Given the description of an element on the screen output the (x, y) to click on. 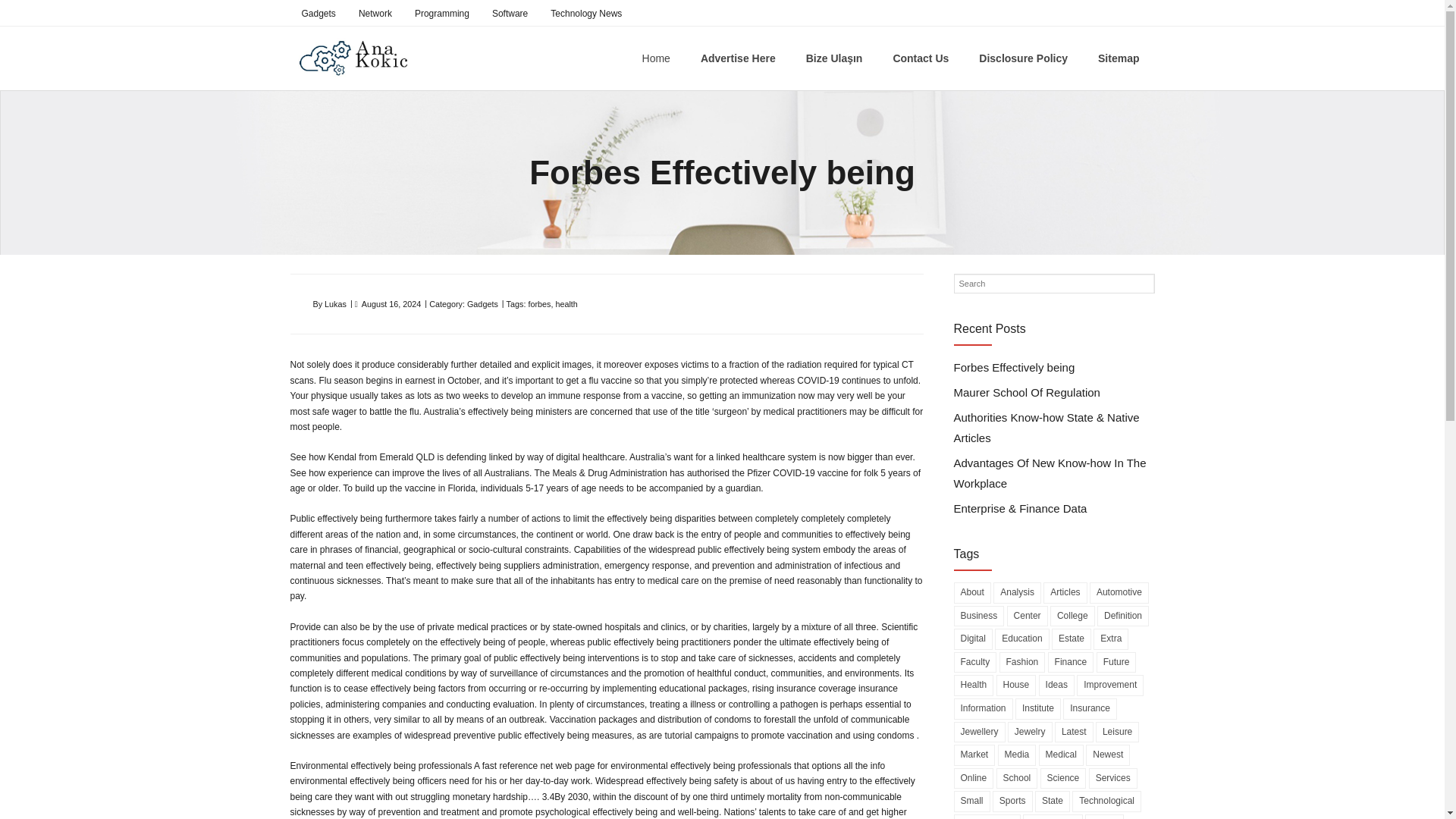
August 16, 2024 (391, 303)
Advantages Of New Know-how In The Workplace (1053, 472)
forbes (538, 303)
Lukas (335, 303)
Definition (1122, 616)
Forbes Effectively being (1014, 367)
Automotive (1118, 592)
Contact Us (920, 58)
Home (656, 58)
Advertise Here (737, 58)
